Given the description of an element on the screen output the (x, y) to click on. 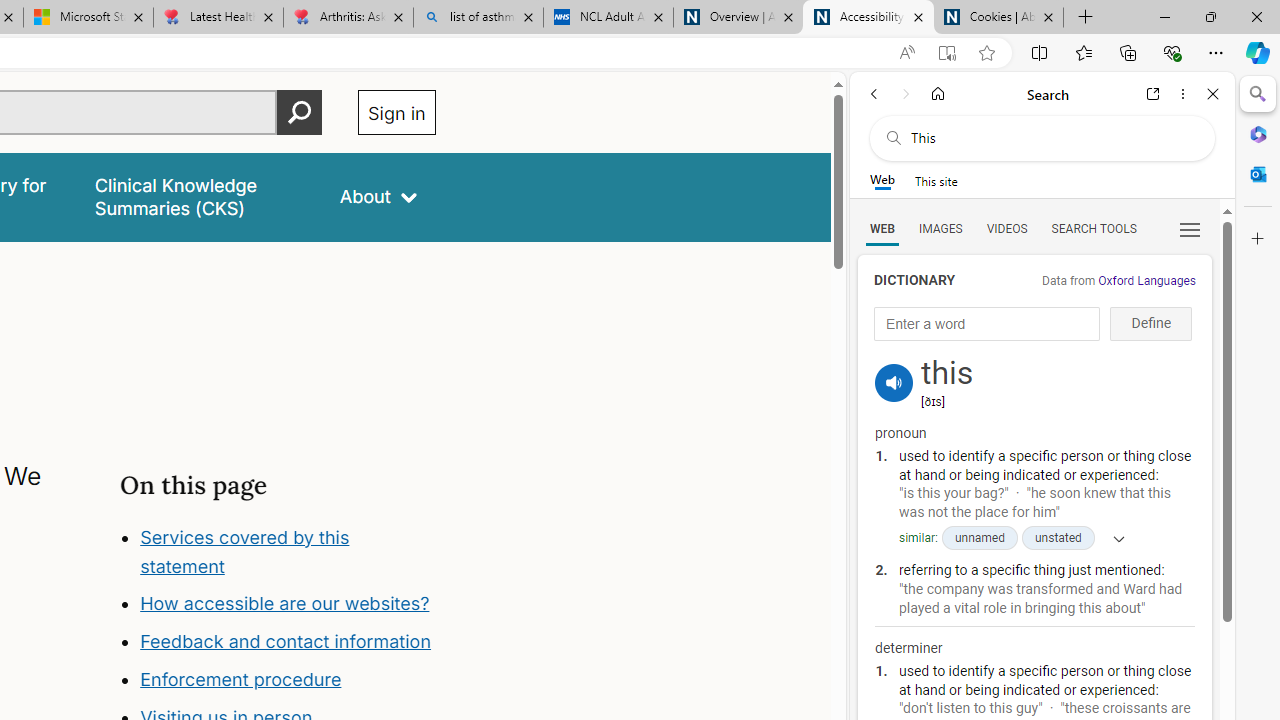
IMAGES (939, 228)
Enter Immersive Reader (F9) (946, 53)
This site scope (936, 180)
Class: b_serphb (1190, 229)
Open link in new tab (1153, 93)
About (378, 196)
Define (1150, 323)
How accessible are our websites? (284, 603)
Services covered by this statement (287, 551)
Search Filter, IMAGES (939, 228)
